Given the description of an element on the screen output the (x, y) to click on. 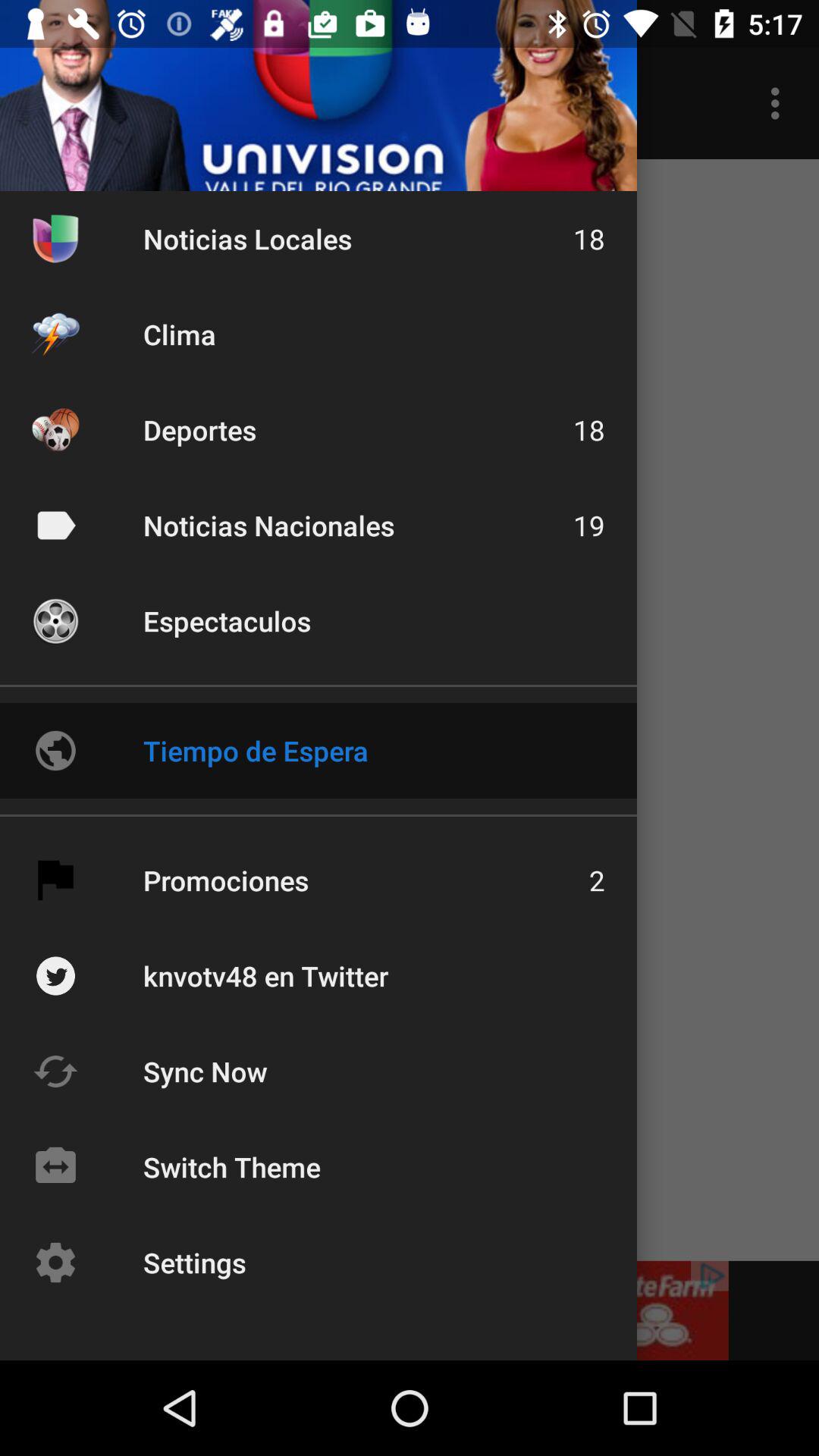
click the icon left to clima (55, 333)
click the icon left to deportes (55, 429)
click on the icon beside switch theme (55, 1166)
click on the sync icon beside sync now (55, 1071)
